Given the description of an element on the screen output the (x, y) to click on. 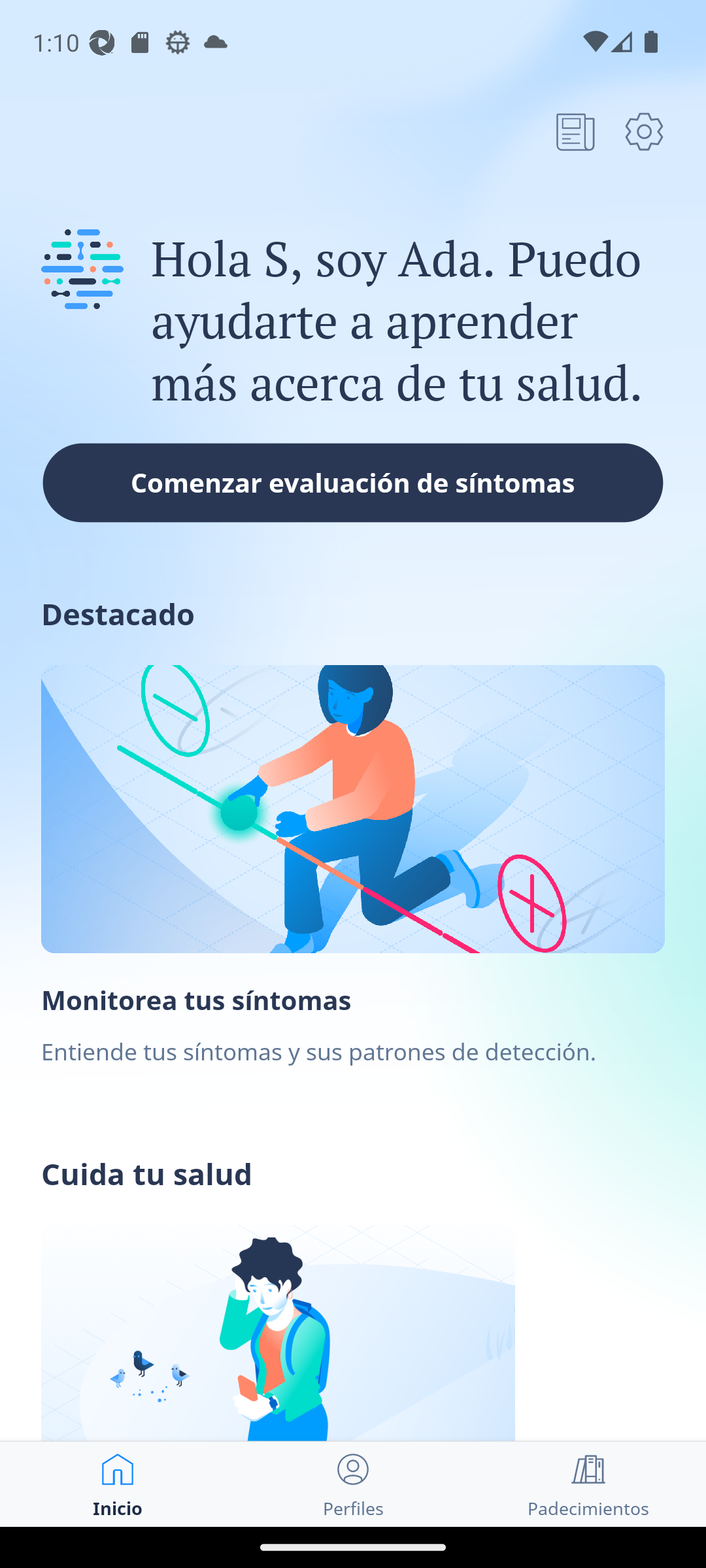
article icon , open articles (574, 131)
settings icon, open settings (644, 131)
Comenzar evaluación de síntomas (352, 482)
Inicio (117, 1484)
Perfiles (352, 1484)
Padecimientos (588, 1484)
